Given the description of an element on the screen output the (x, y) to click on. 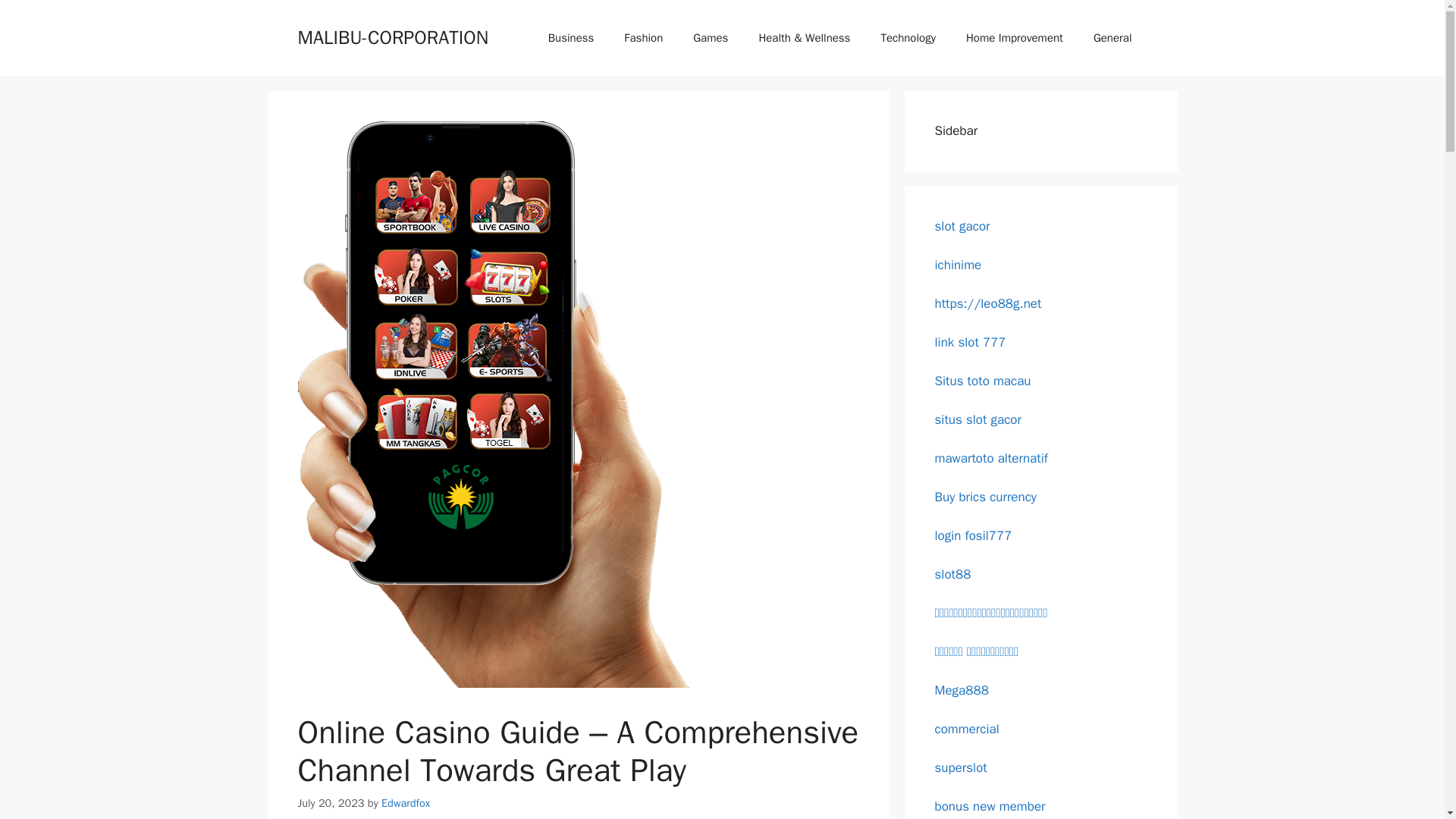
superslot (960, 767)
slot gacor (962, 226)
General (1112, 37)
Edwardfox (405, 802)
Technology (907, 37)
Games (710, 37)
MALIBU-CORPORATION (392, 37)
slot88 (952, 573)
link slot 777 (970, 341)
View all posts by Edwardfox (405, 802)
login fosil777 (972, 535)
Mega888 (961, 690)
ichinime (957, 263)
Fashion (643, 37)
commercial (966, 728)
